Given the description of an element on the screen output the (x, y) to click on. 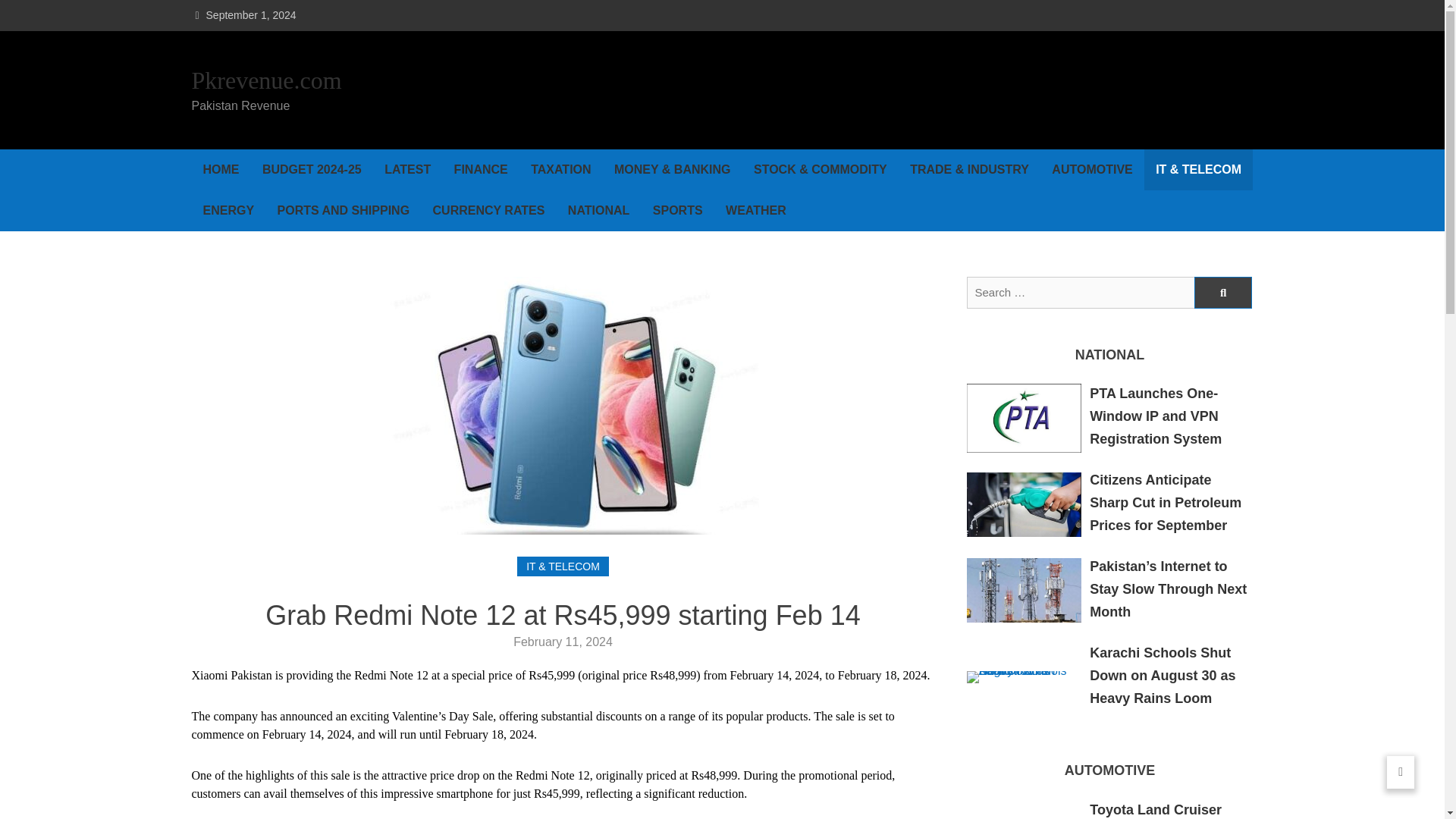
Karachi Schools Shut Down on August 30 as Heavy Rains Loom (1161, 674)
FINANCE (480, 169)
AUTOMOTIVE (1091, 169)
TAXATION (560, 169)
PTA Launches One-Window IP and VPN Registration System (1155, 415)
ENERGY (227, 210)
February 11, 2024 (562, 641)
Toyota Land Cruiser J250 Review in Pakistan: Price, Specs (1169, 810)
SPORTS (678, 210)
